Given the description of an element on the screen output the (x, y) to click on. 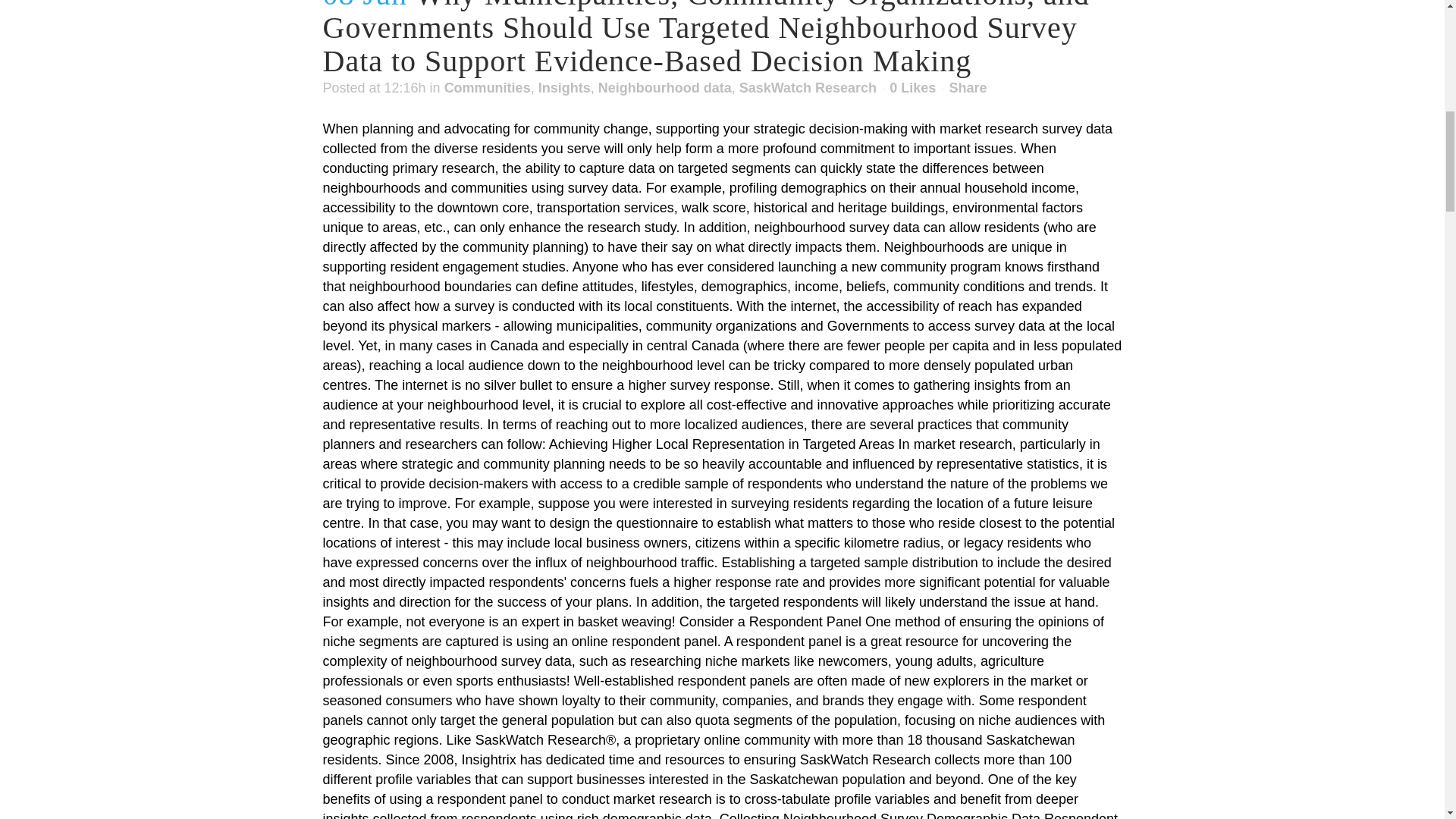
Like this (912, 87)
